Given the description of an element on the screen output the (x, y) to click on. 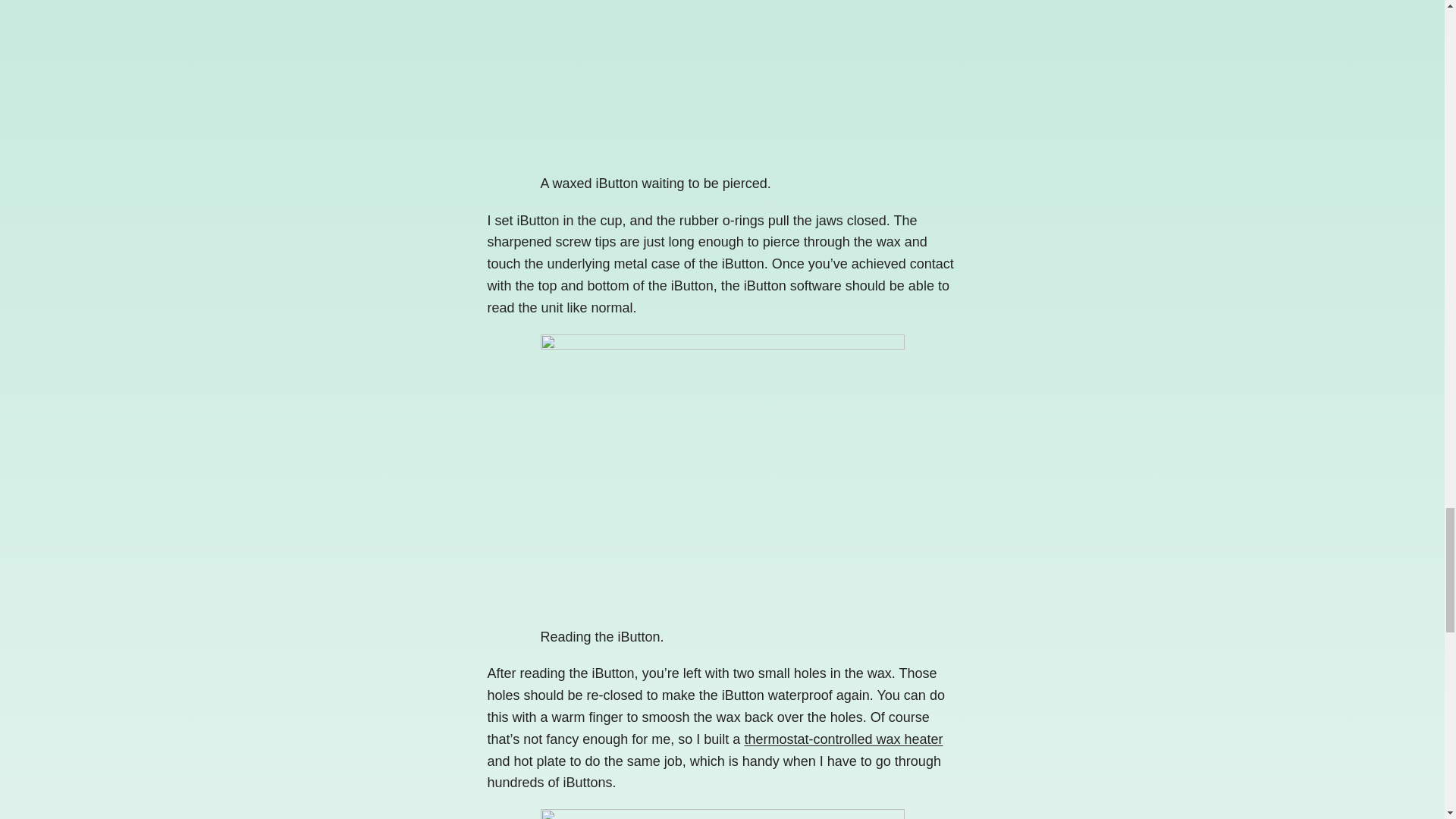
thermostat-controlled wax heater (843, 739)
